Given the description of an element on the screen output the (x, y) to click on. 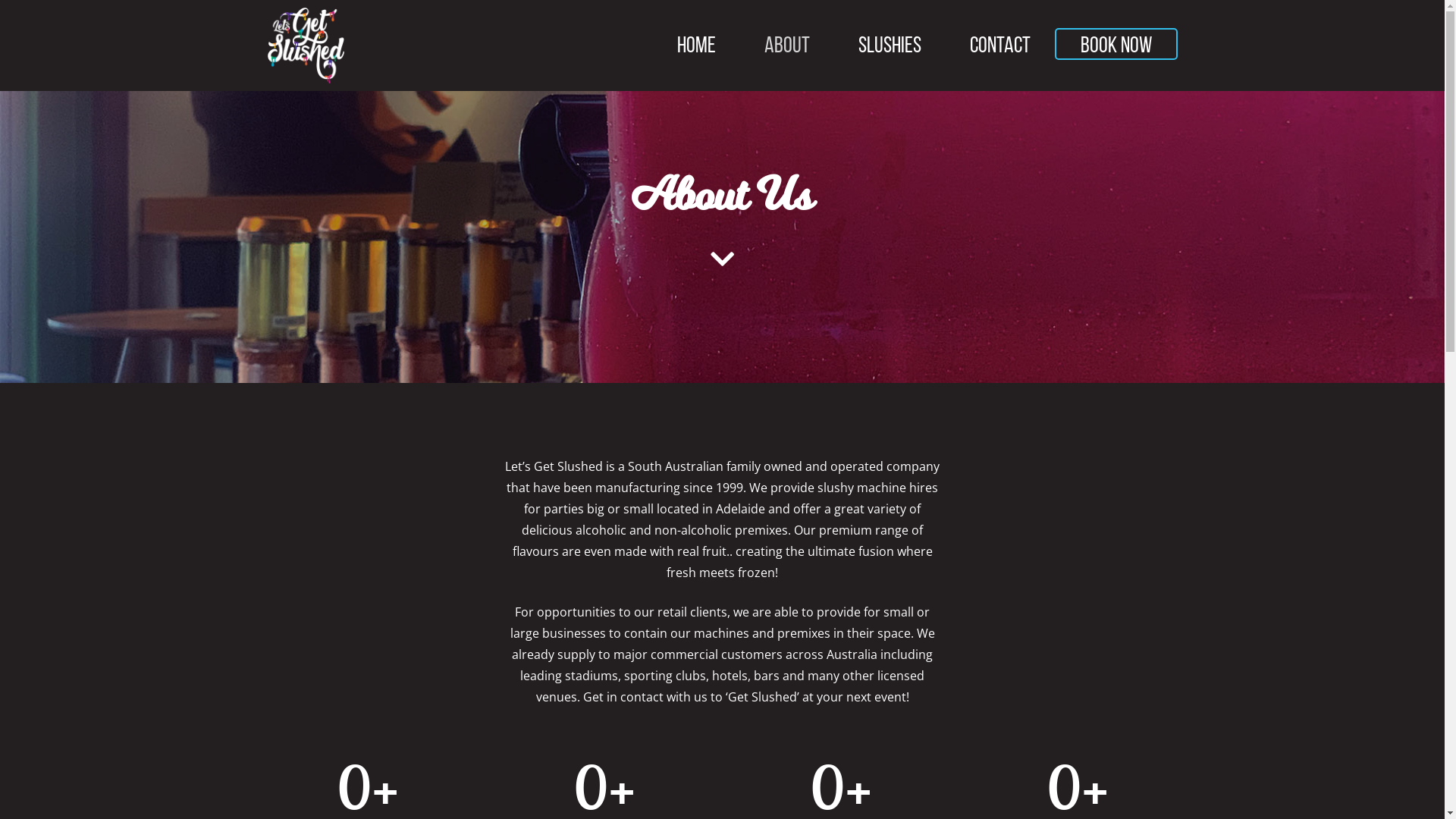
Book Now Element type: text (1115, 43)
